Given the description of an element on the screen output the (x, y) to click on. 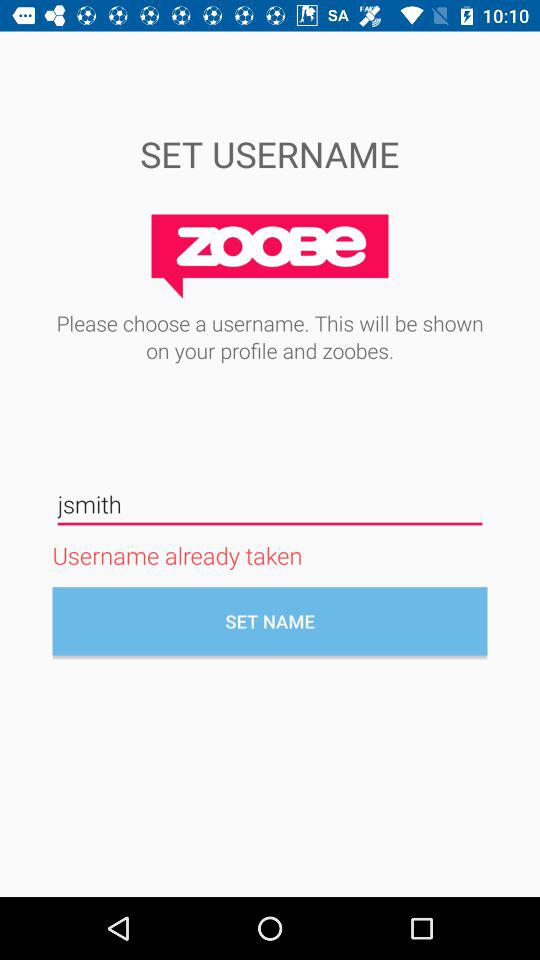
press the icon above username already taken icon (269, 504)
